Given the description of an element on the screen output the (x, y) to click on. 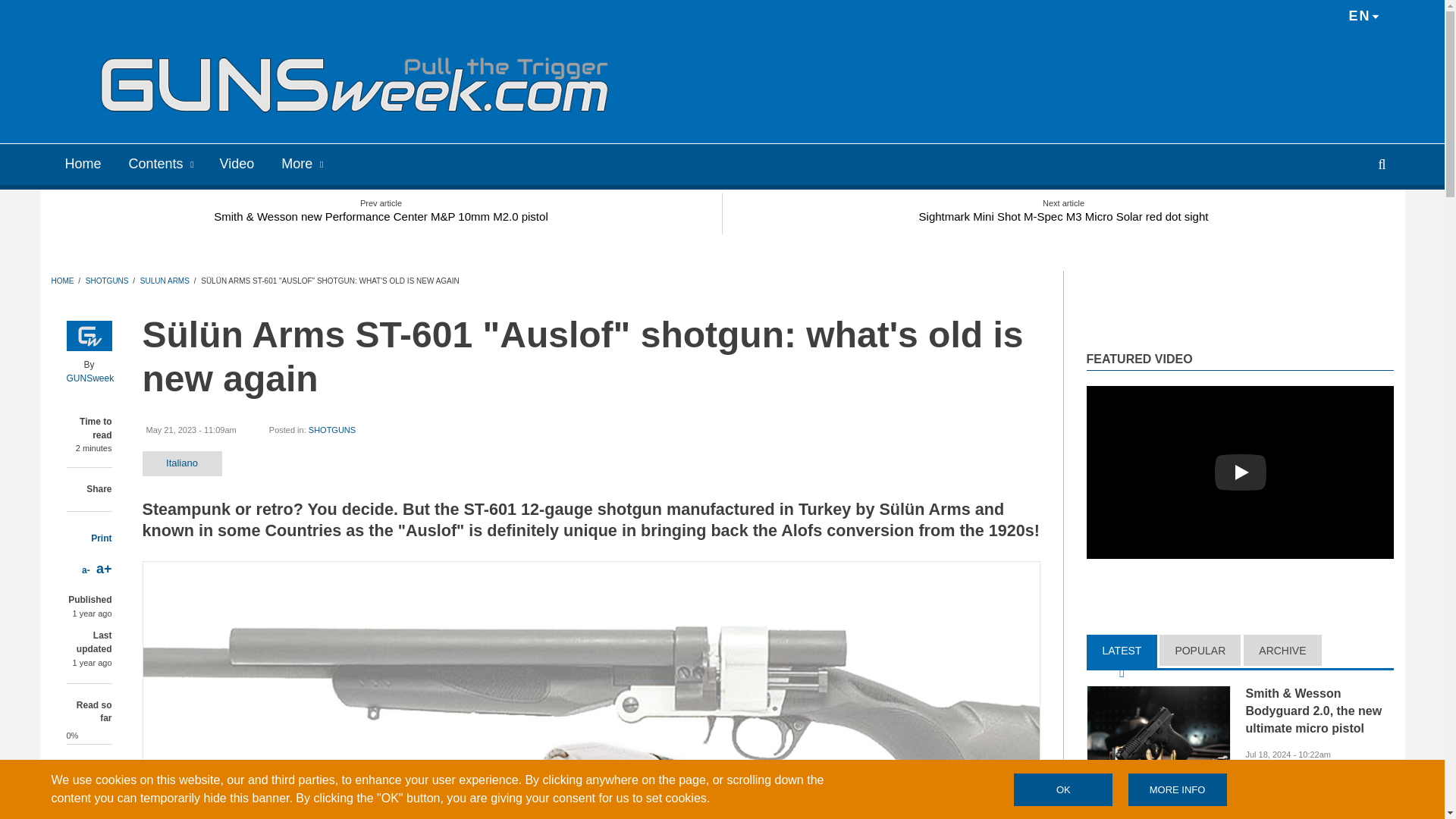
Home (82, 162)
SULUN ARMS (164, 280)
MORE INFO (1177, 789)
OK (1062, 789)
GUNSweek (90, 378)
OK (1062, 789)
Video (236, 162)
Sightmark Mini Shot M-Spec M3 Micro Solar red dot sight (1063, 212)
EN (1364, 16)
Contents (160, 162)
Home (391, 83)
HOME (62, 280)
SHOTGUNS (107, 280)
